Given the description of an element on the screen output the (x, y) to click on. 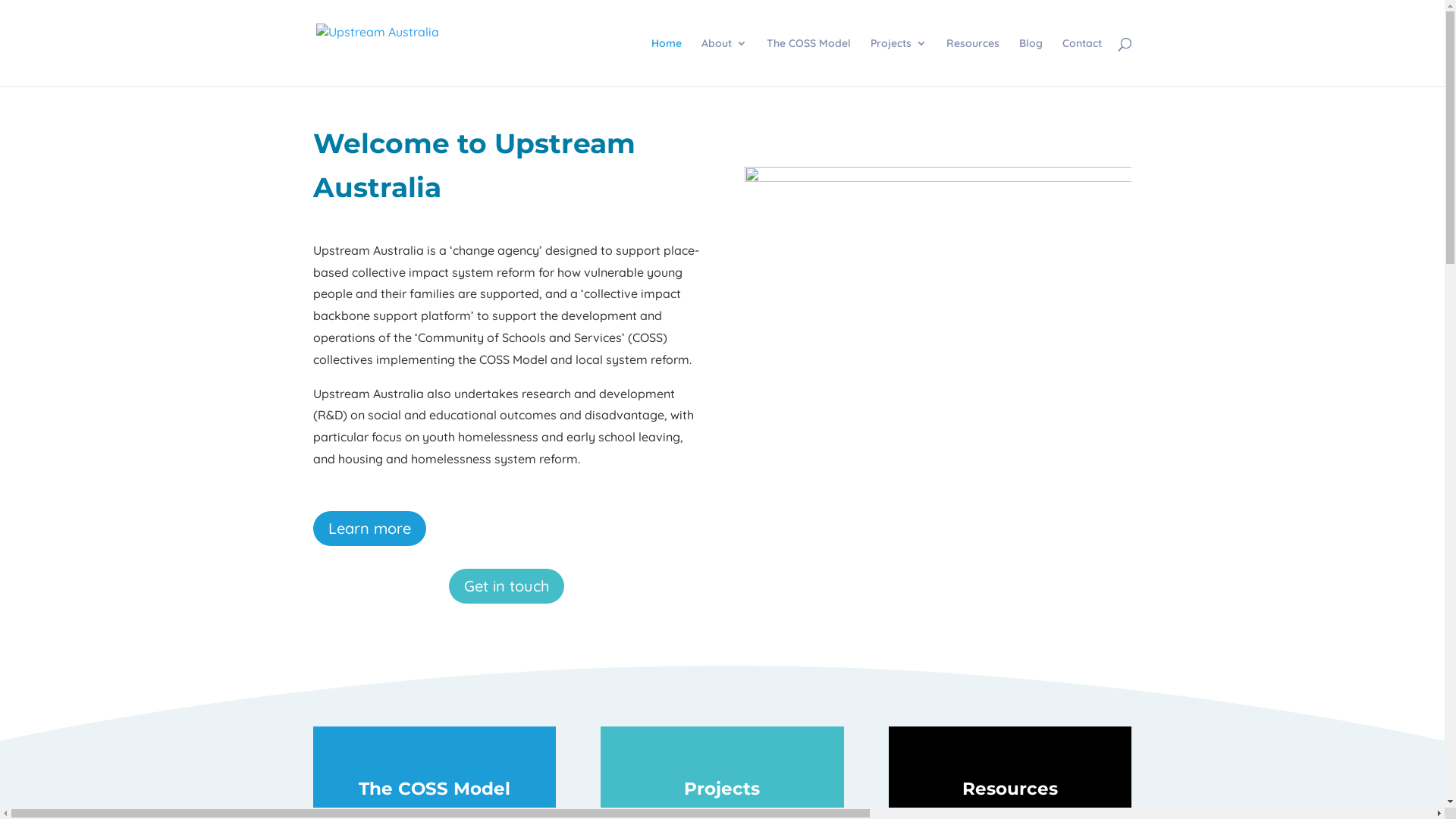
Get in touch Element type: text (506, 585)
Home Element type: text (665, 61)
Learn more Element type: text (368, 528)
About Element type: text (723, 61)
The COSS Model Element type: text (807, 61)
Contact Element type: text (1081, 61)
Resources Element type: text (972, 61)
Projects Element type: text (898, 61)
Welcome to Upstream Australia Element type: hover (937, 296)
Blog Element type: text (1030, 61)
